Given the description of an element on the screen output the (x, y) to click on. 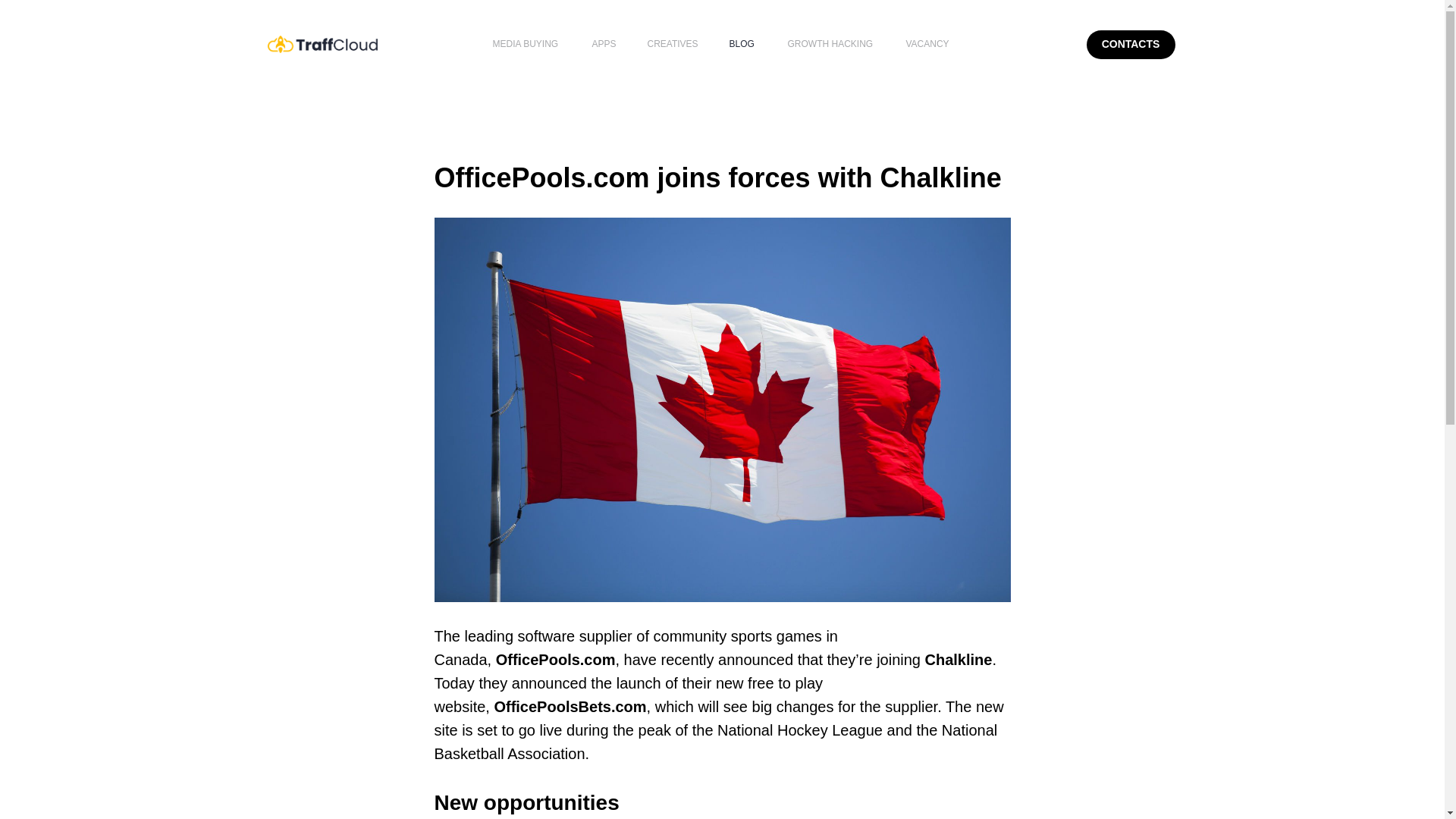
VACANCY (927, 43)
APPS (603, 43)
BLOG (741, 43)
CREATIVES (672, 43)
MEDIA BUYING (526, 43)
GROWTH HACKING (829, 43)
CONTACTS (1130, 44)
